Given the description of an element on the screen output the (x, y) to click on. 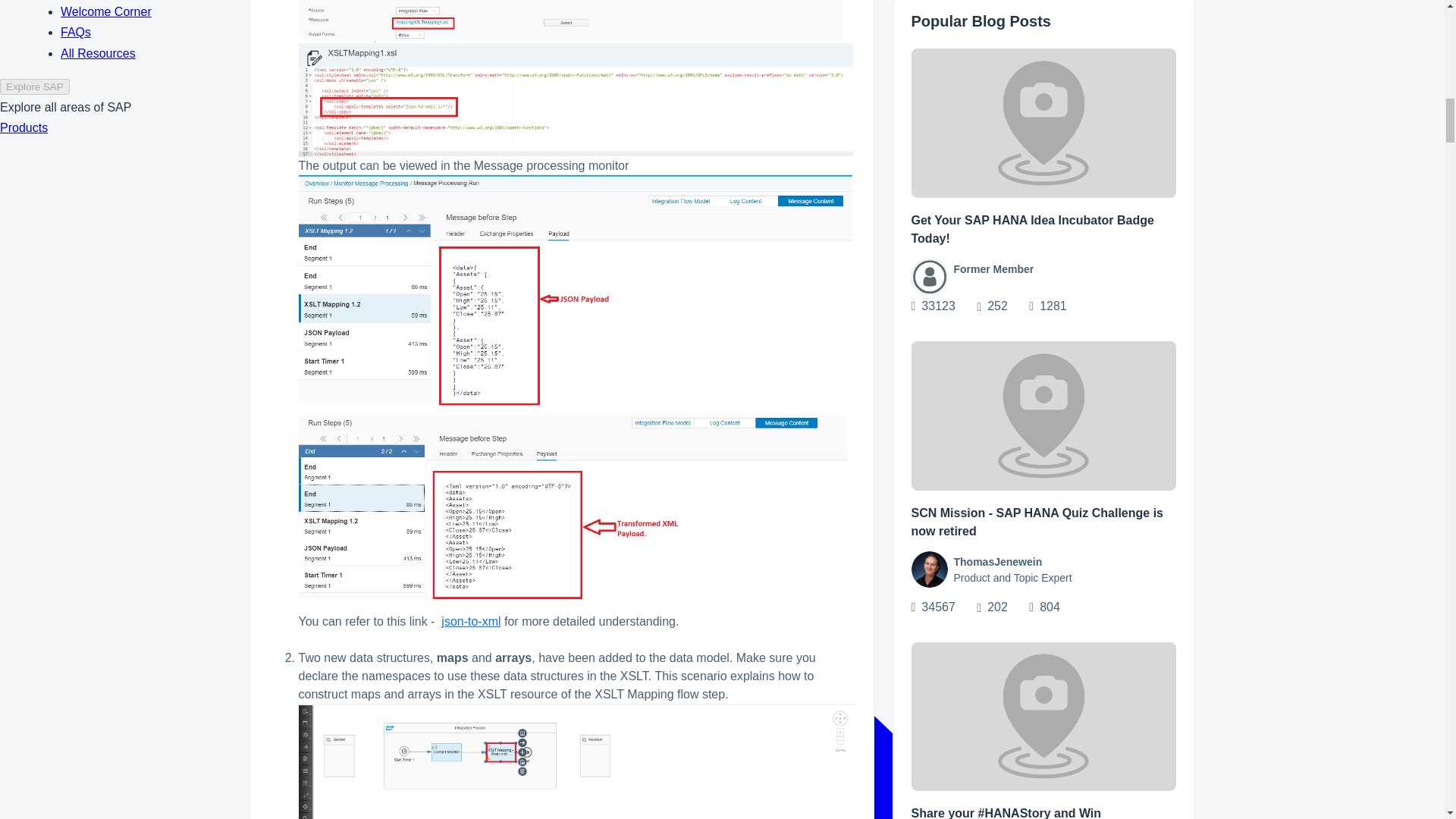
json-to-xml (470, 621)
